Given the description of an element on the screen output the (x, y) to click on. 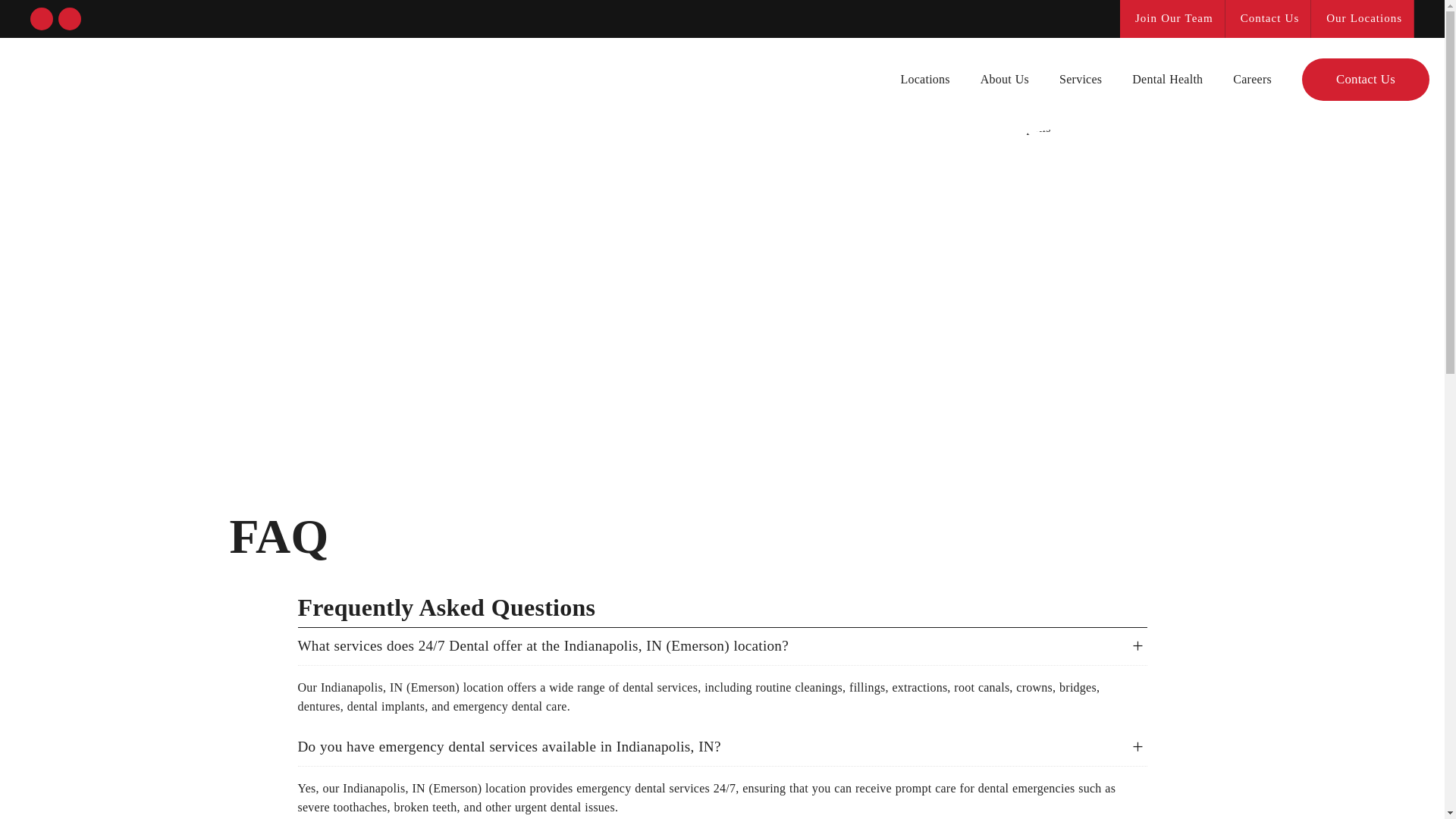
Join Our Team (1172, 18)
Contact Us (1365, 79)
Our Locations (1362, 18)
Contact Us (1268, 18)
